Given the description of an element on the screen output the (x, y) to click on. 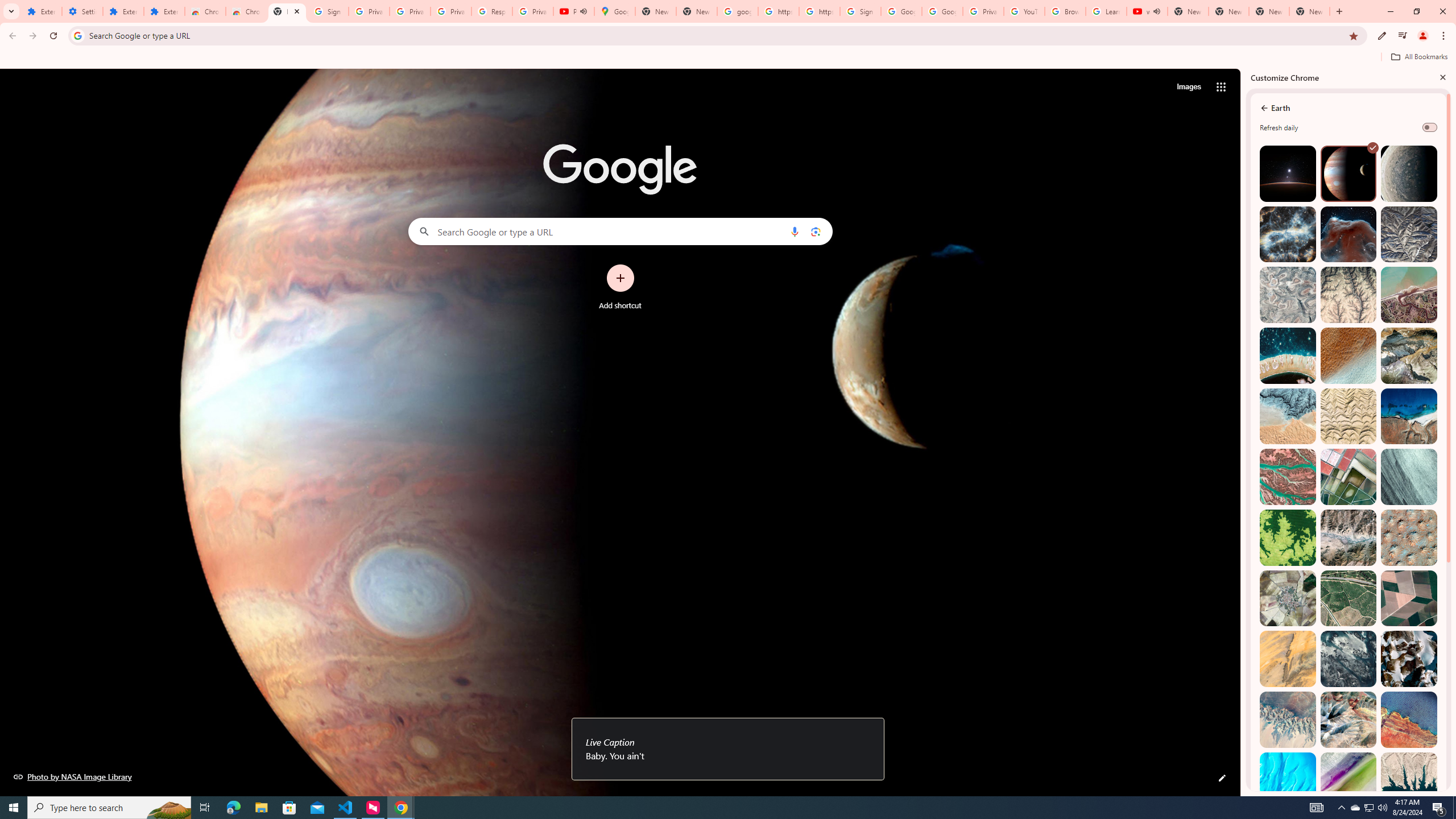
Qesm Al Wahat Ad Dakhlah, Egypt (1287, 719)
Sign in - Google Accounts (860, 11)
Davis County, United States (1348, 780)
Antarctica (1408, 658)
Dekese, DR Congo (1287, 537)
Bookmarks (728, 58)
Zermatt, Wallis, Switzerland (1408, 355)
Atar, Mauritania (1287, 658)
Search for Images  (1188, 87)
